Given the description of an element on the screen output the (x, y) to click on. 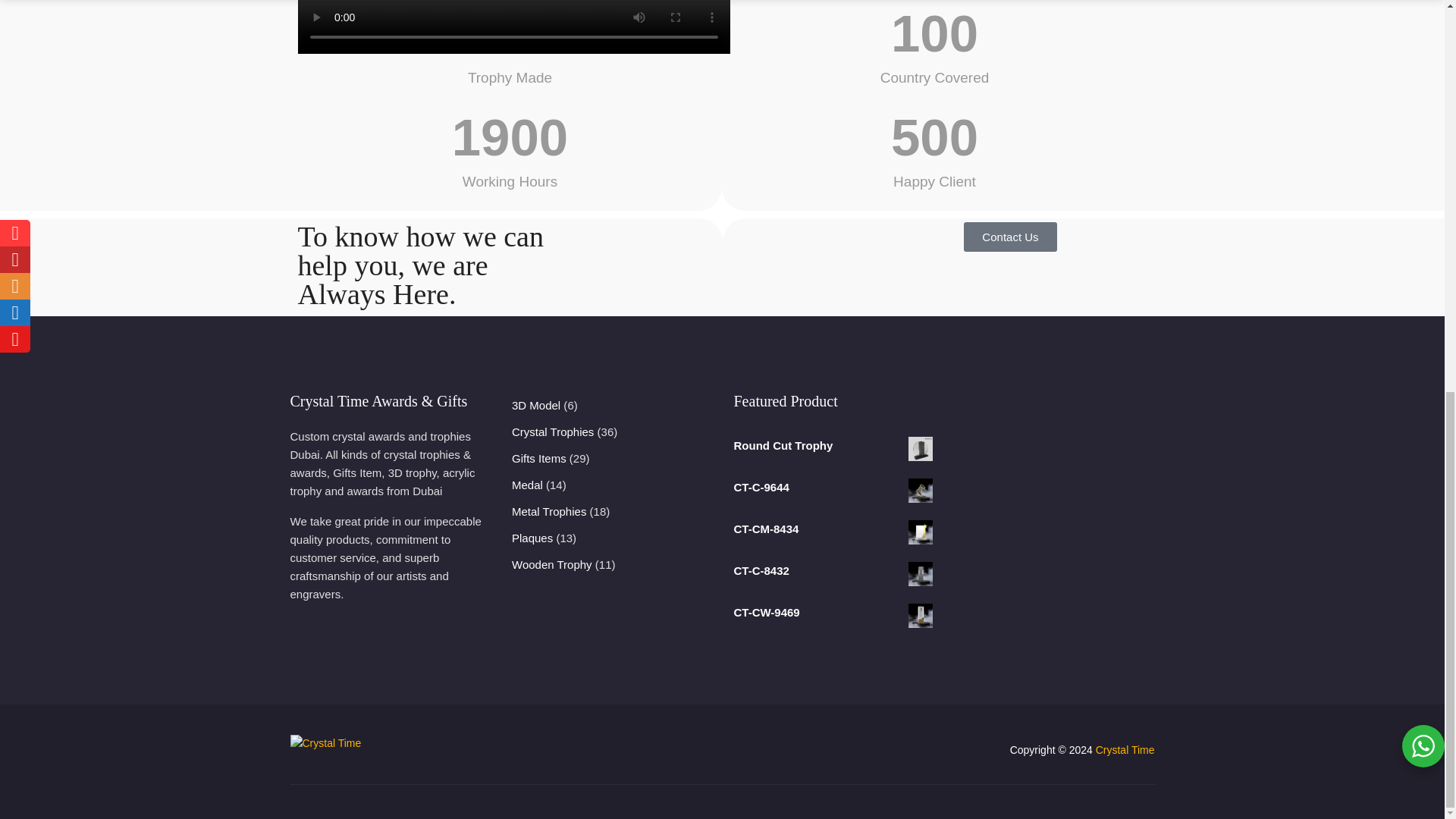
Crystal Time (325, 750)
Medal (527, 484)
Gifts Items (539, 458)
Contact Us (1010, 236)
3D Model (536, 405)
Crystal Trophies (553, 432)
Crystal Time (1125, 749)
